Given the description of an element on the screen output the (x, y) to click on. 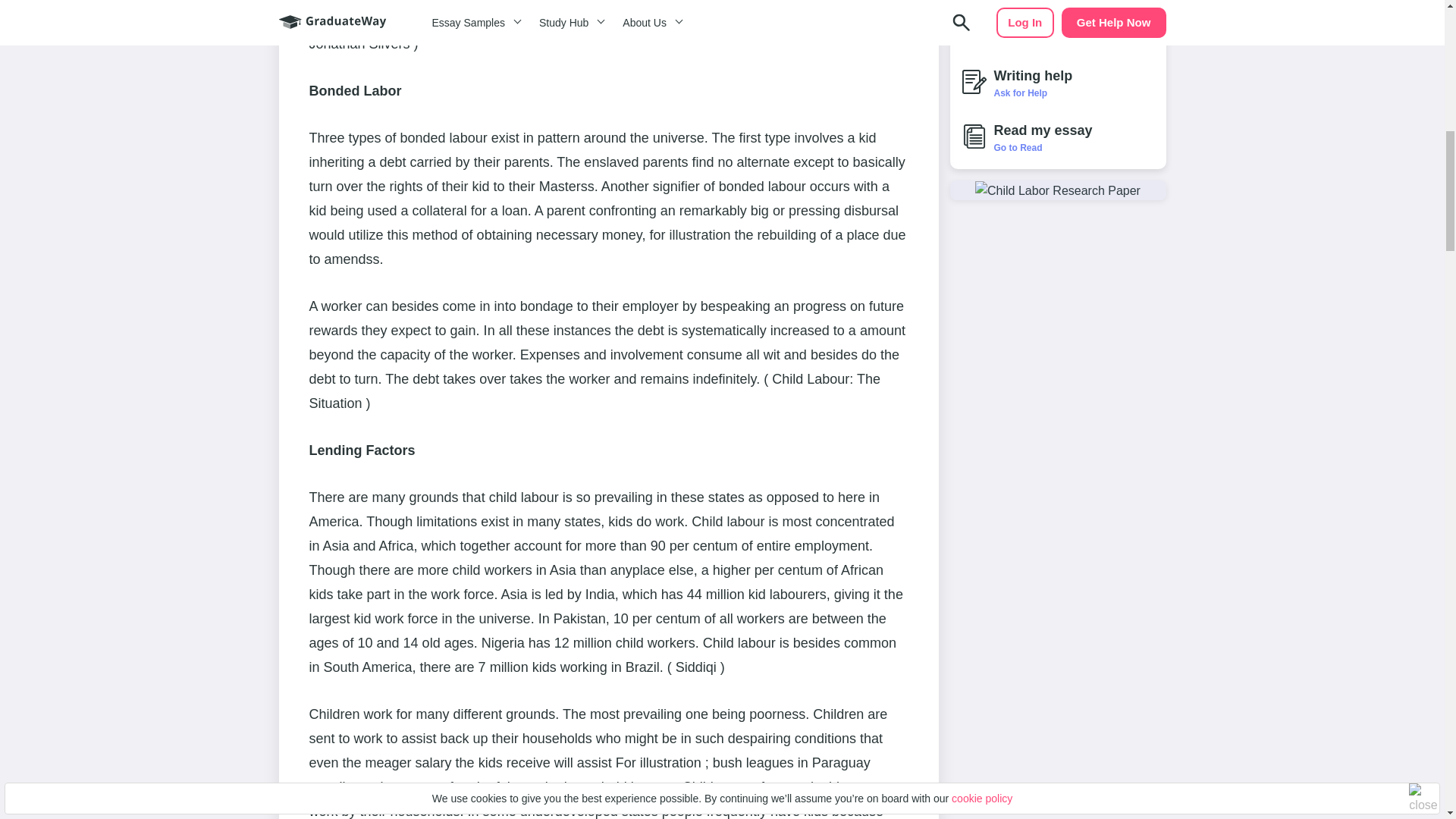
Child Labor Research Paper (1057, 189)
